Given the description of an element on the screen output the (x, y) to click on. 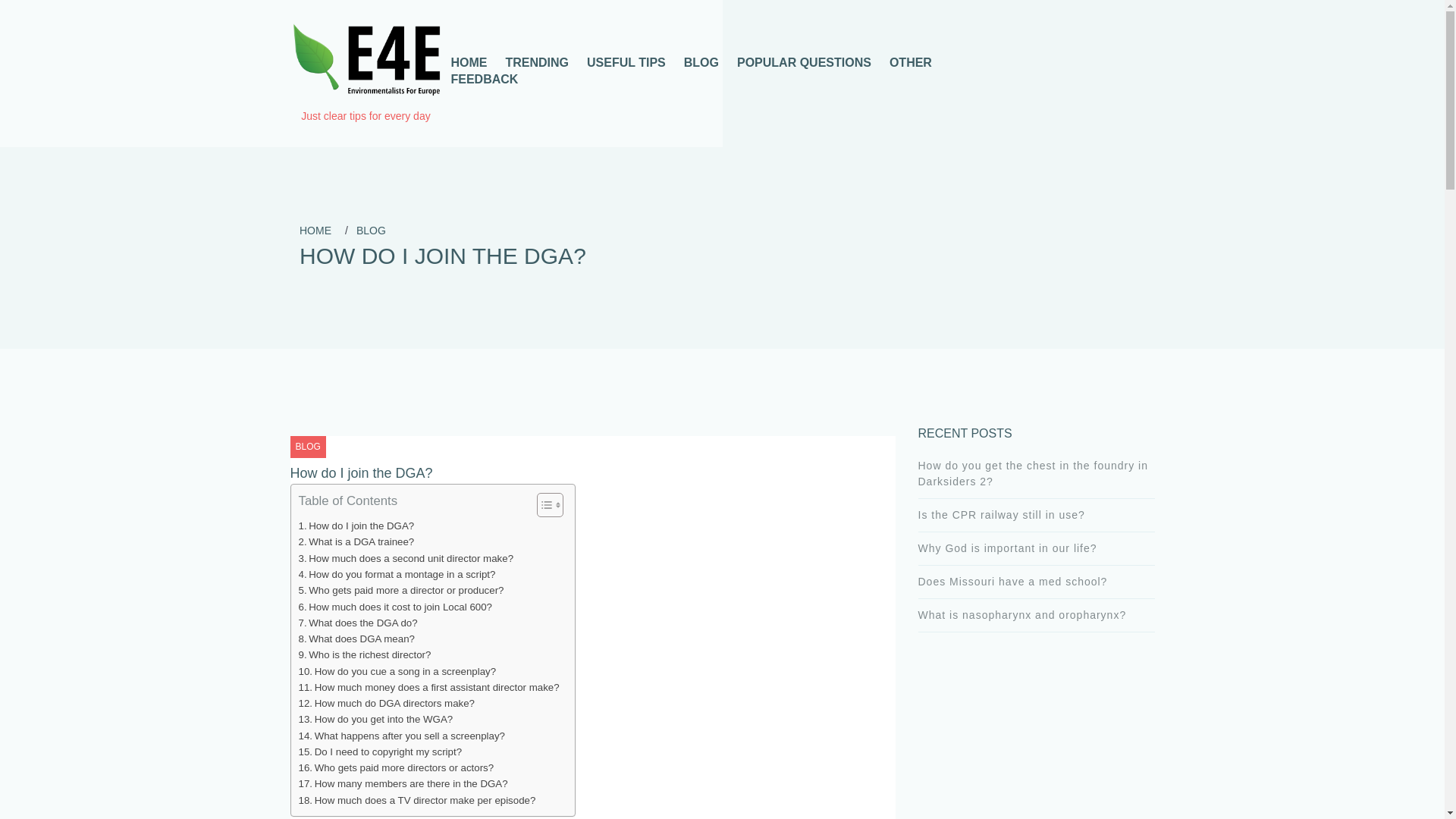
How much money does a first assistant director make? (428, 687)
What does DGA mean? (356, 638)
HOME (468, 62)
How much does it cost to join Local 600? (395, 606)
How much money does a first assistant director make? (428, 687)
Do I need to copyright my script? (380, 751)
How many members are there in the DGA? (403, 783)
HOME (315, 230)
How do I join the DGA? (356, 525)
How much do DGA directors make? (387, 703)
